Given the description of an element on the screen output the (x, y) to click on. 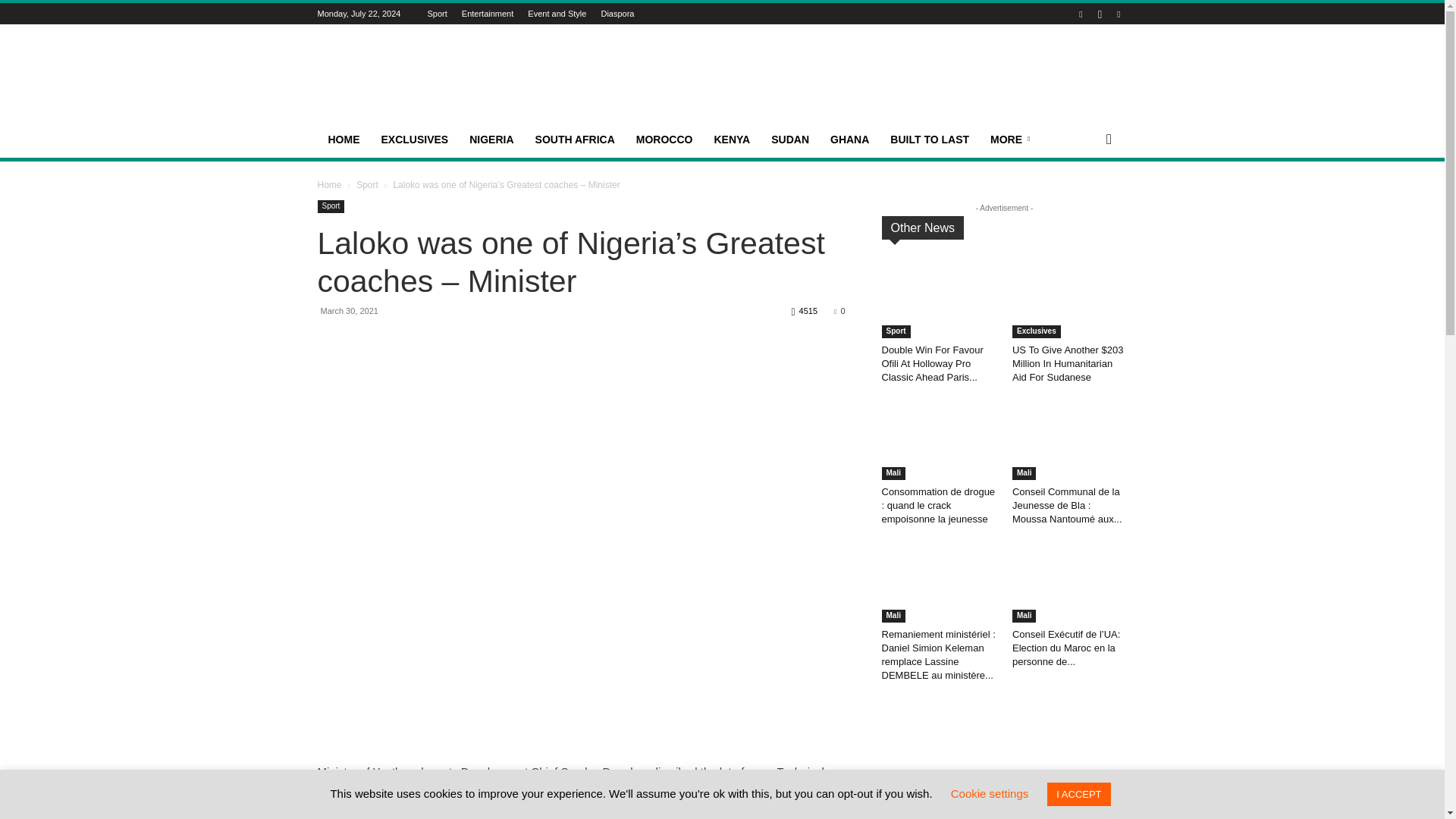
SOUTH AFRICA (575, 139)
EXCLUSIVES (413, 139)
Instagram (1099, 13)
Event and Style (556, 13)
Facebook (1080, 13)
NIGERIA (491, 139)
View all posts in Sport (367, 184)
HOME (343, 139)
Sport (436, 13)
MOROCCO (664, 139)
Entertainment (487, 13)
Diaspora (616, 13)
Twitter (1117, 13)
